Given the description of an element on the screen output the (x, y) to click on. 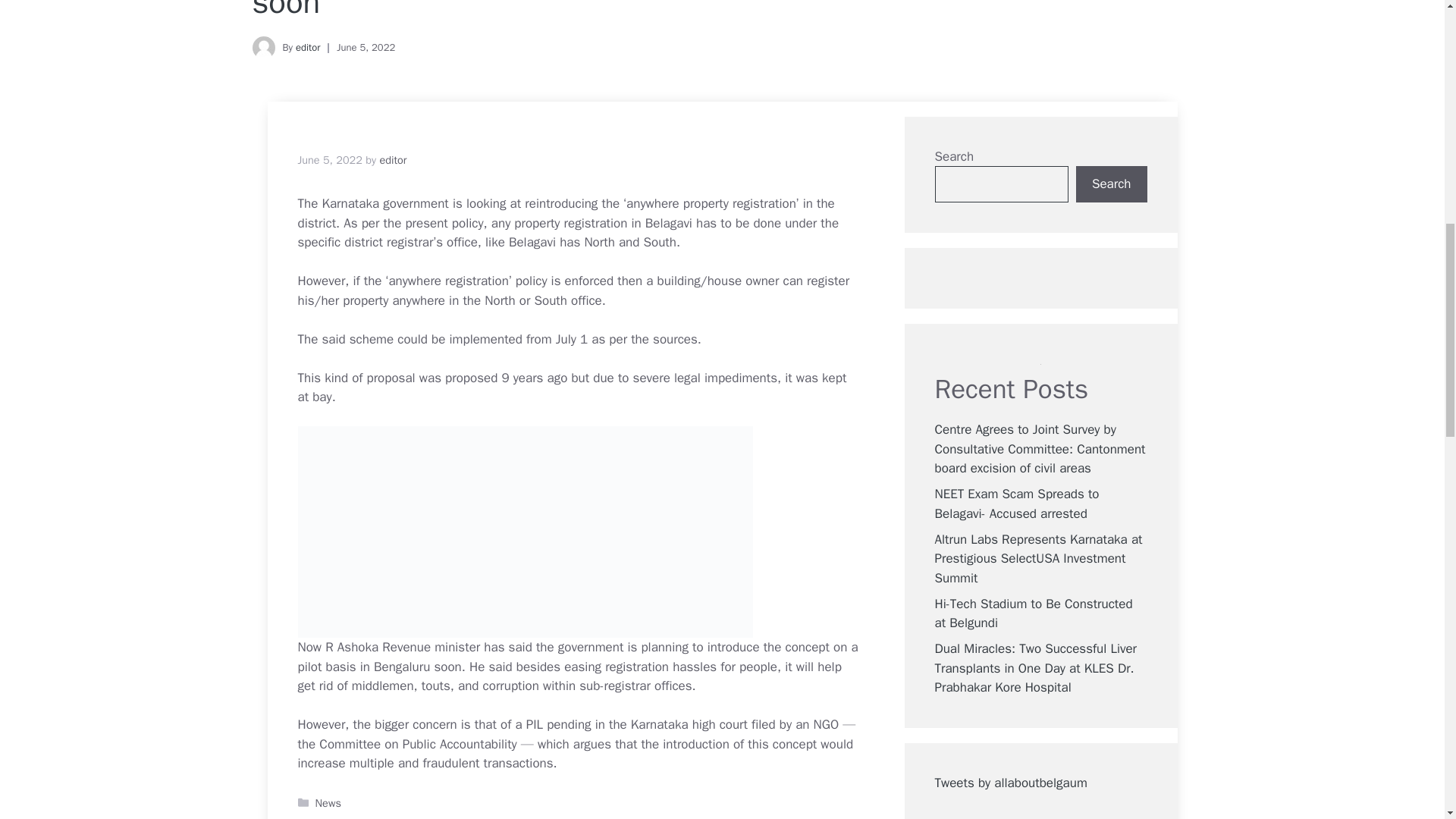
View all posts by editor (392, 160)
News (327, 802)
NEET Exam Scam Spreads to Belagavi- Accused arrested (1016, 503)
editor (307, 47)
editor (392, 160)
Hi-Tech Stadium to Be Constructed at Belgundi (1033, 613)
Tweets by allaboutbelgaum (1010, 782)
Search (1111, 184)
